Given the description of an element on the screen output the (x, y) to click on. 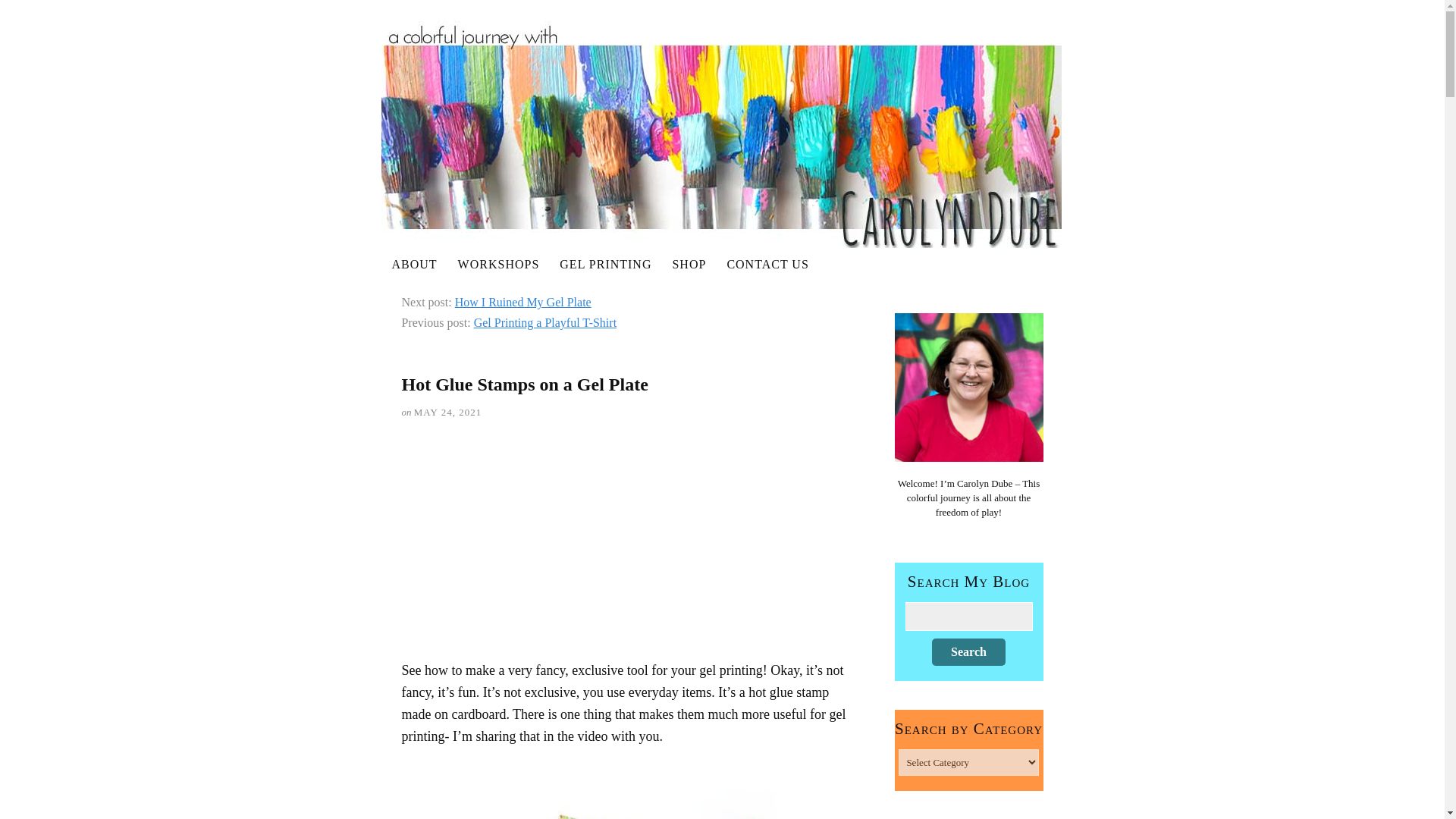
ABOUT (414, 264)
SHOP (689, 264)
CONTACT US (767, 264)
GEL PRINTING (606, 264)
How I Ruined My Gel Plate (522, 301)
Gel Printing a Playful T-Shirt (544, 322)
2021-05-24 (447, 411)
Search (968, 651)
YouTube player (627, 543)
WORKSHOPS (499, 264)
